Given the description of an element on the screen output the (x, y) to click on. 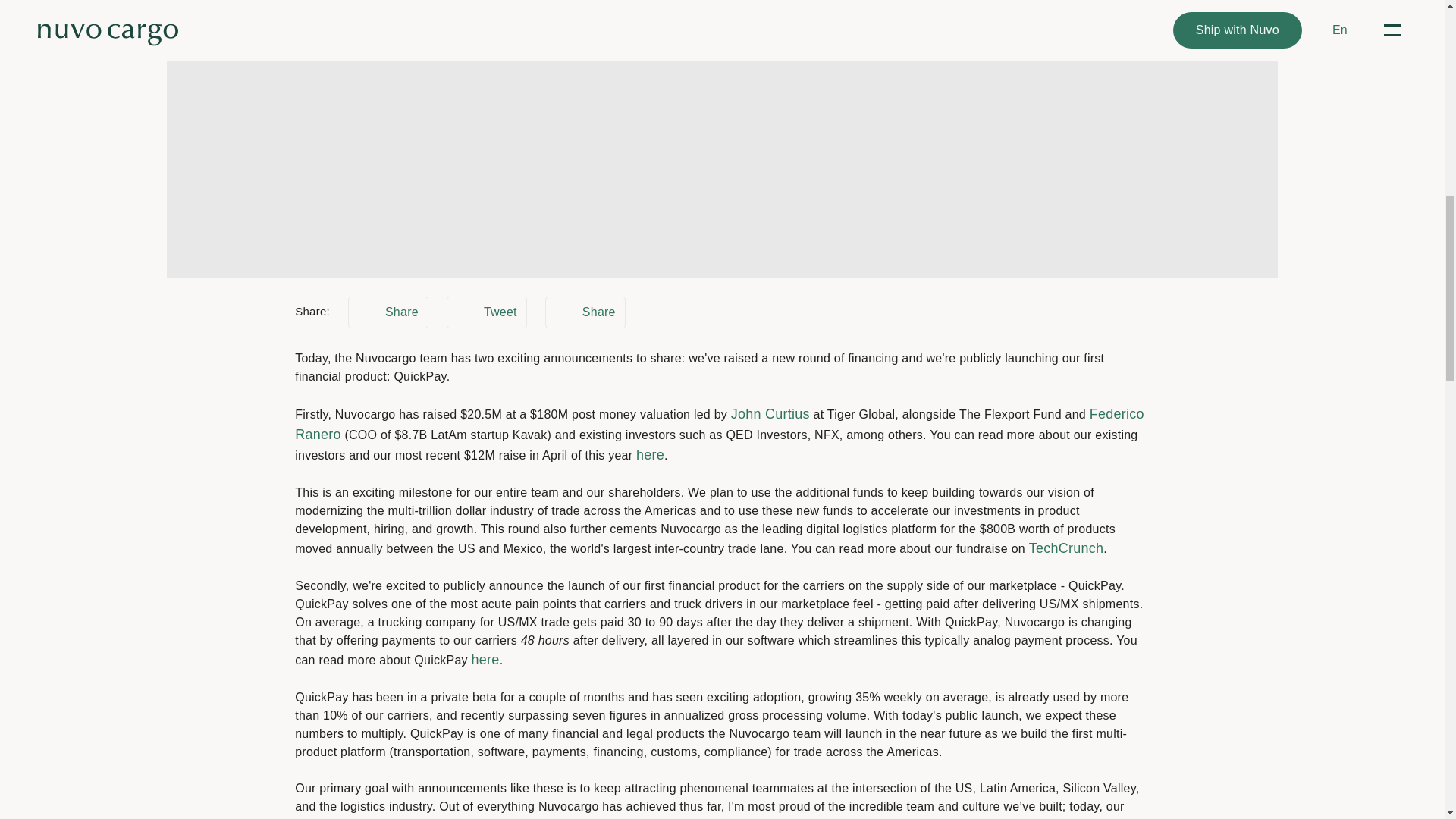
Share (585, 312)
Share on LinkedIn (387, 312)
Tweet (486, 312)
Tweet (486, 312)
Federico Ranero (719, 424)
TechCrunch (1066, 548)
here (649, 454)
Share on Facebook (585, 312)
Share (387, 312)
John Curtius (769, 413)
